Given the description of an element on the screen output the (x, y) to click on. 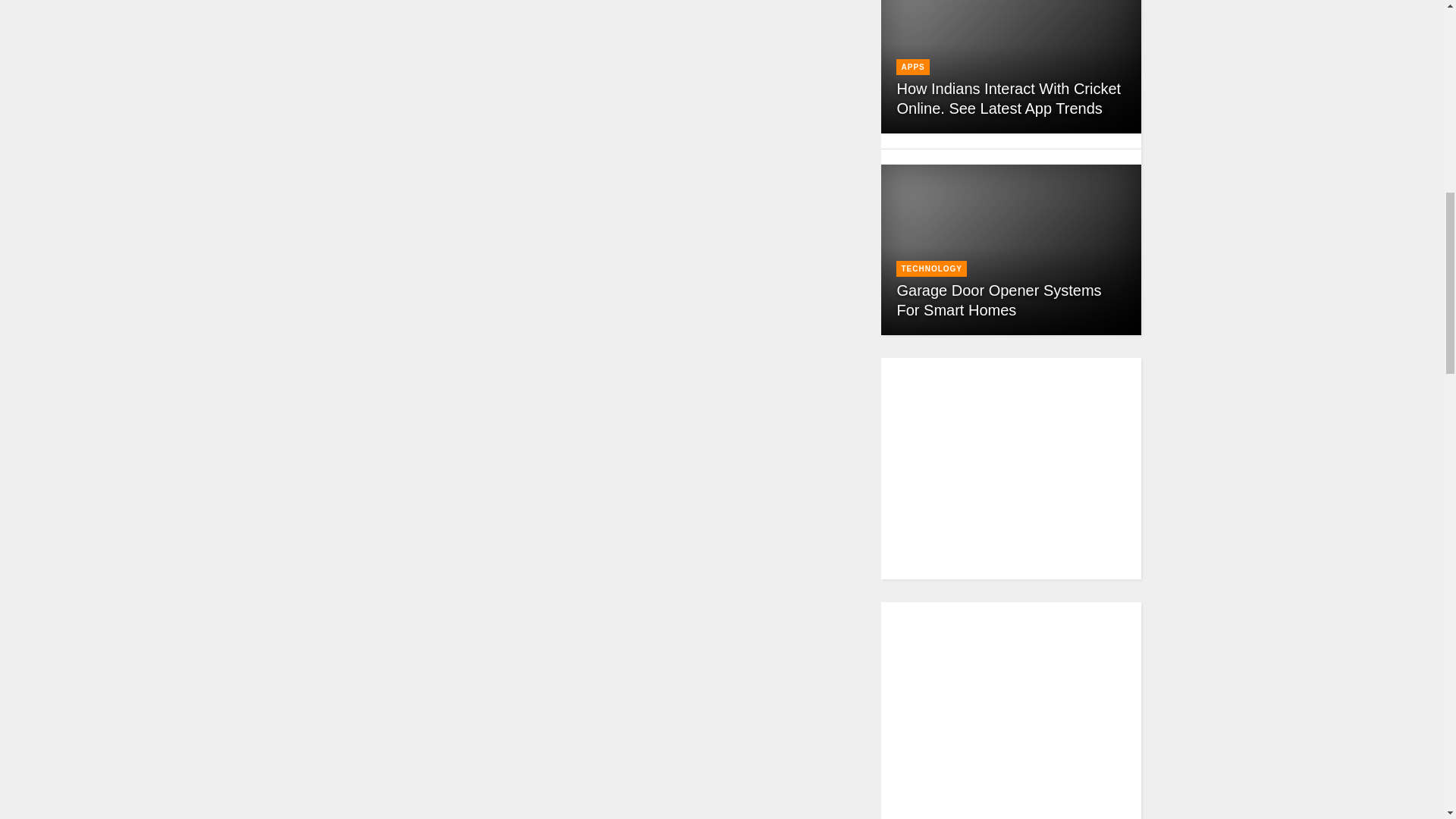
Garage Door Opener Systems For Smart Homes (998, 299)
APPS (912, 66)
TECHNOLOGY (931, 268)
Garage Door Opener Systems For Smart Homes (998, 299)
